Given the description of an element on the screen output the (x, y) to click on. 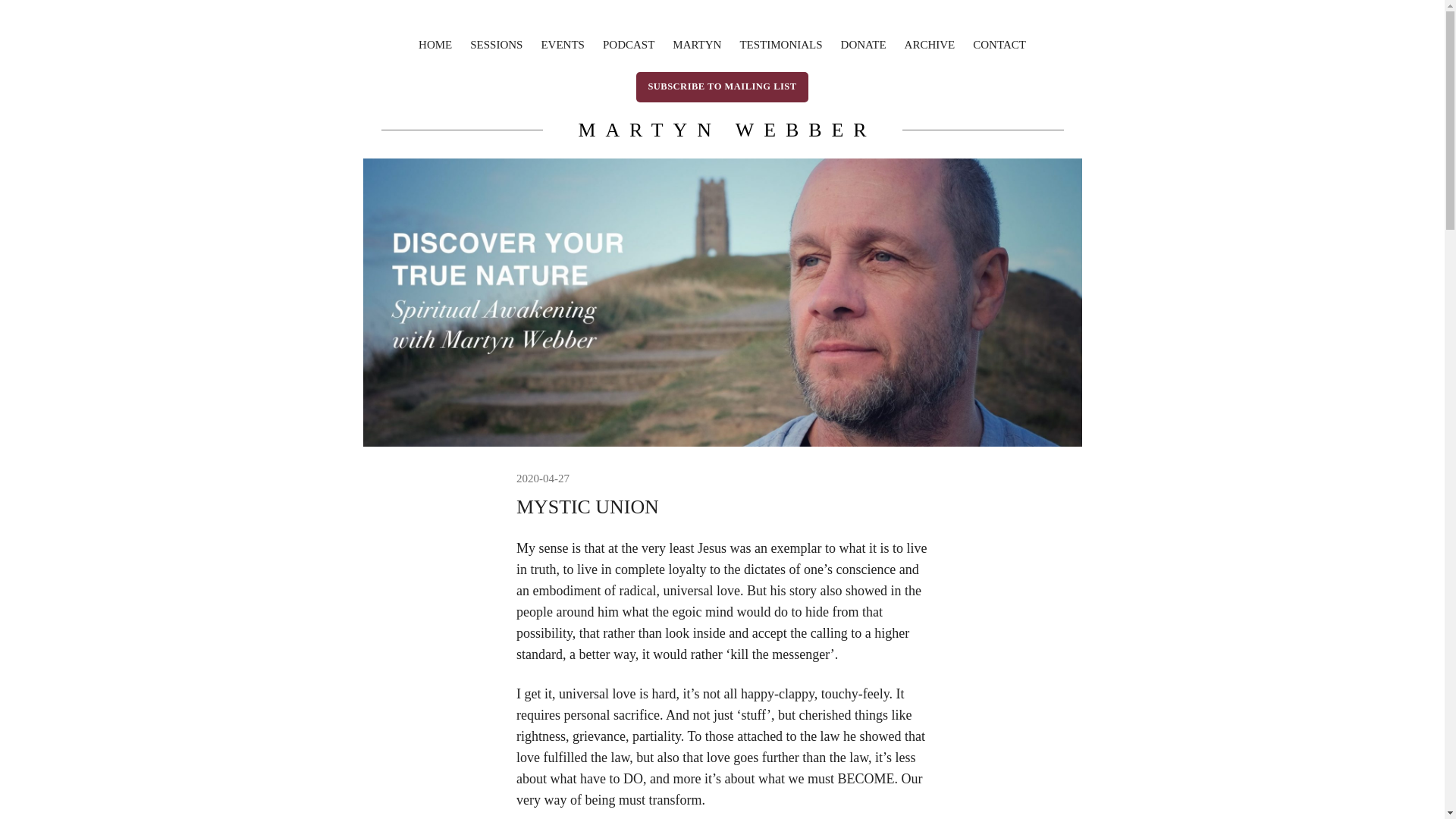
TESTIMONIALS (780, 45)
ARCHIVE (929, 45)
CONTACT (999, 45)
EVENTS (562, 45)
DONATE (863, 45)
HOME (435, 45)
SESSIONS (496, 45)
MARTYN WEBBER (727, 129)
MARTYN (696, 45)
SUBSCRIBE TO MAILING LIST (722, 86)
